Given the description of an element on the screen output the (x, y) to click on. 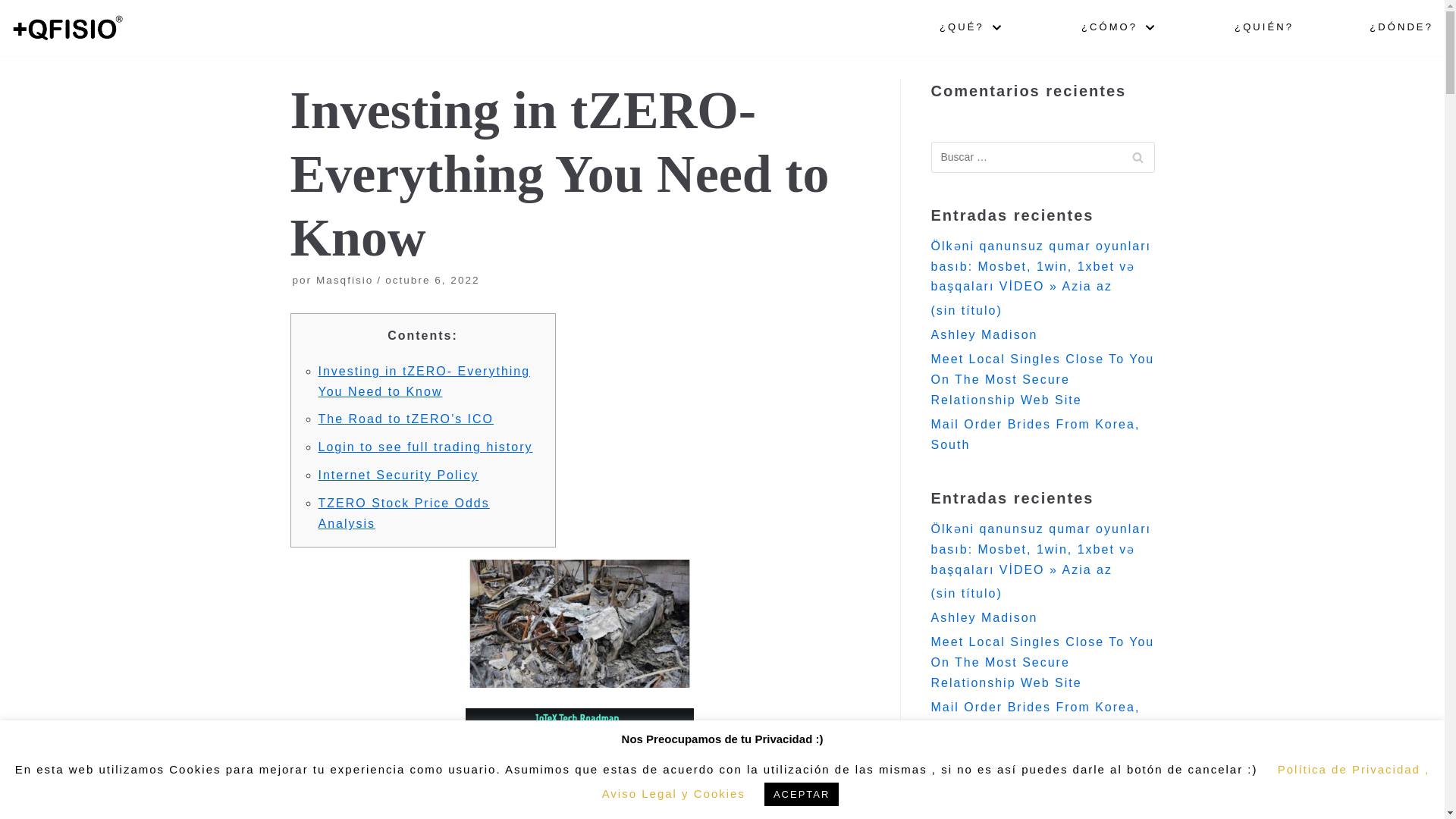
Buscar (1137, 156)
Masqfisio (343, 279)
Login to see full trading history (425, 446)
Internet Security Policy (398, 474)
TZERO Stock Price Odds Analysis (403, 512)
Saltar al contenido (15, 7)
Entradas de Masqfisio (343, 279)
Investing in tZERO- Everything You Need to Know (424, 381)
Buscar (1137, 156)
